Given the description of an element on the screen output the (x, y) to click on. 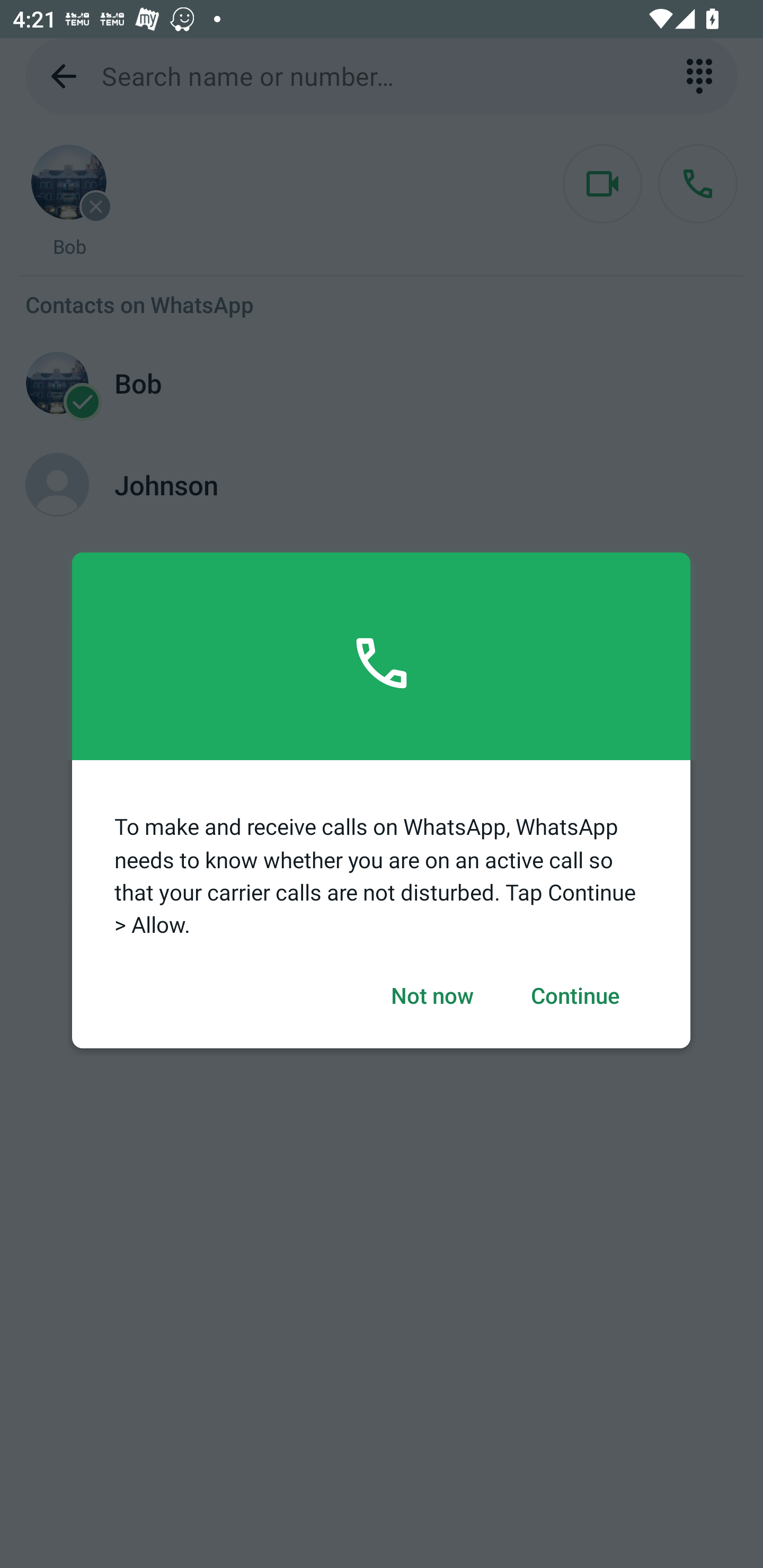
NOT NOW (432, 996)
CONTINUE (575, 996)
